Given the description of an element on the screen output the (x, y) to click on. 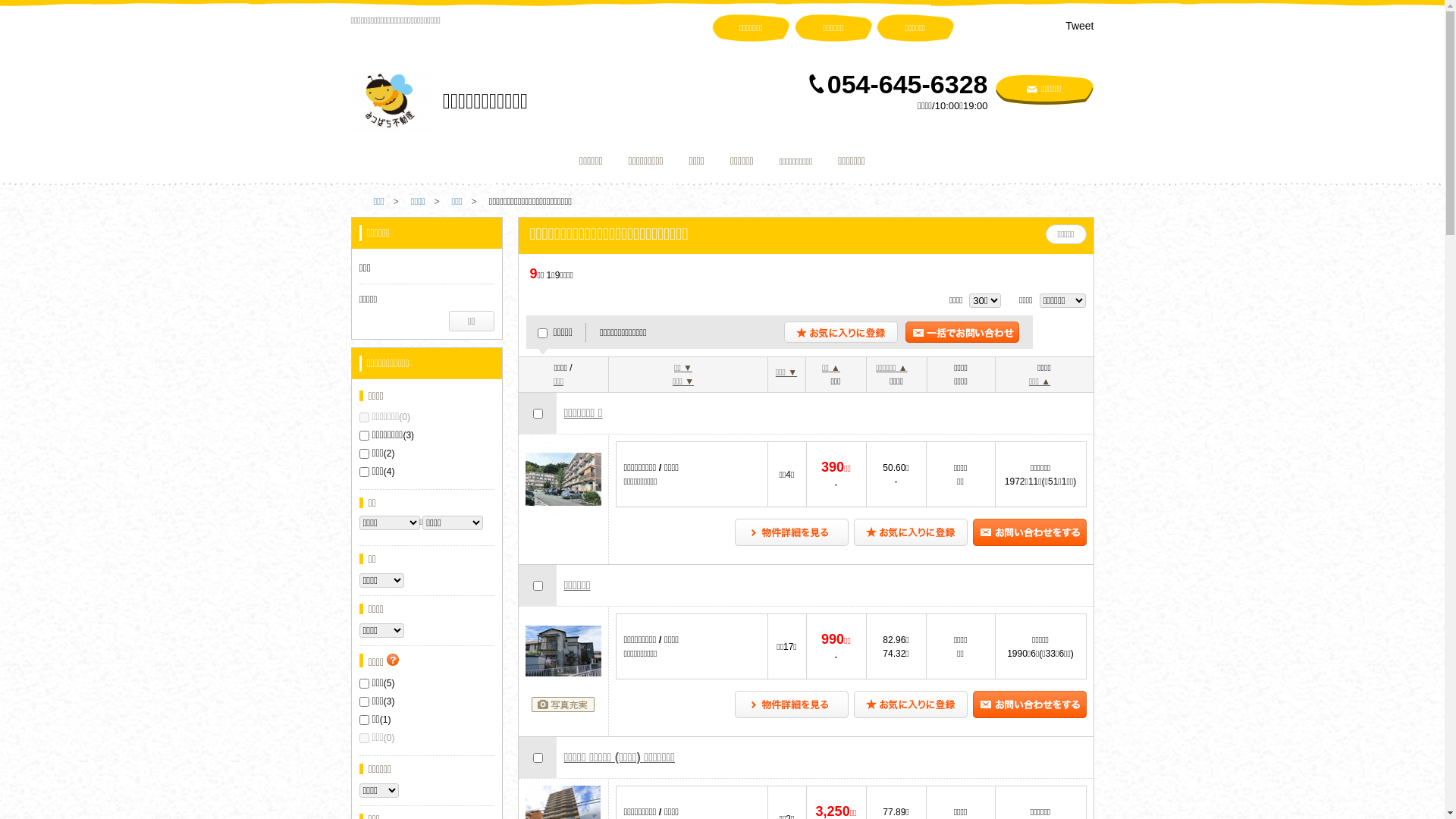
Tweet Element type: text (1079, 25)
